Given the description of an element on the screen output the (x, y) to click on. 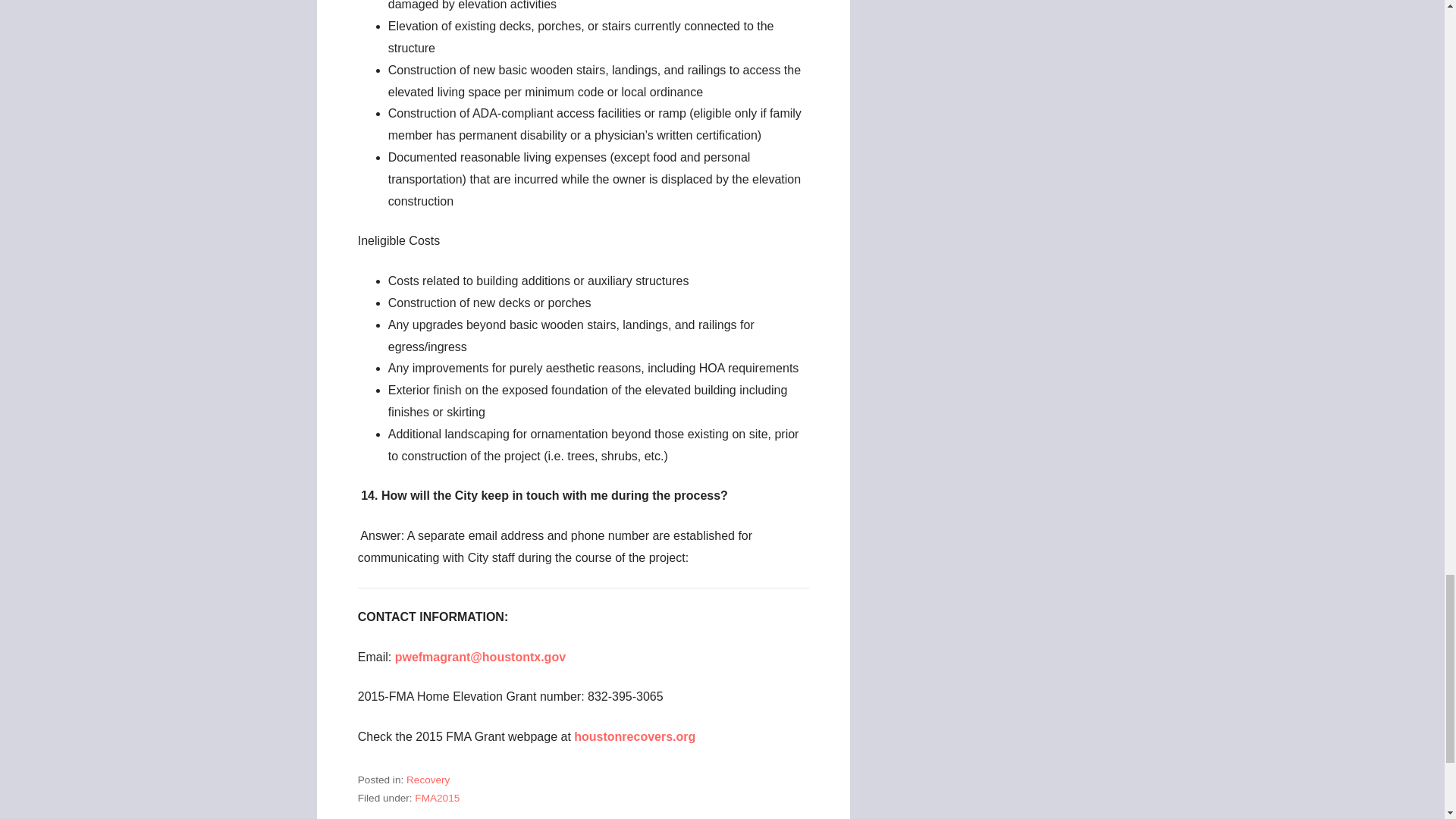
houstonrecovers.org (634, 736)
FMA2015 (437, 797)
Recovery (427, 779)
